Given the description of an element on the screen output the (x, y) to click on. 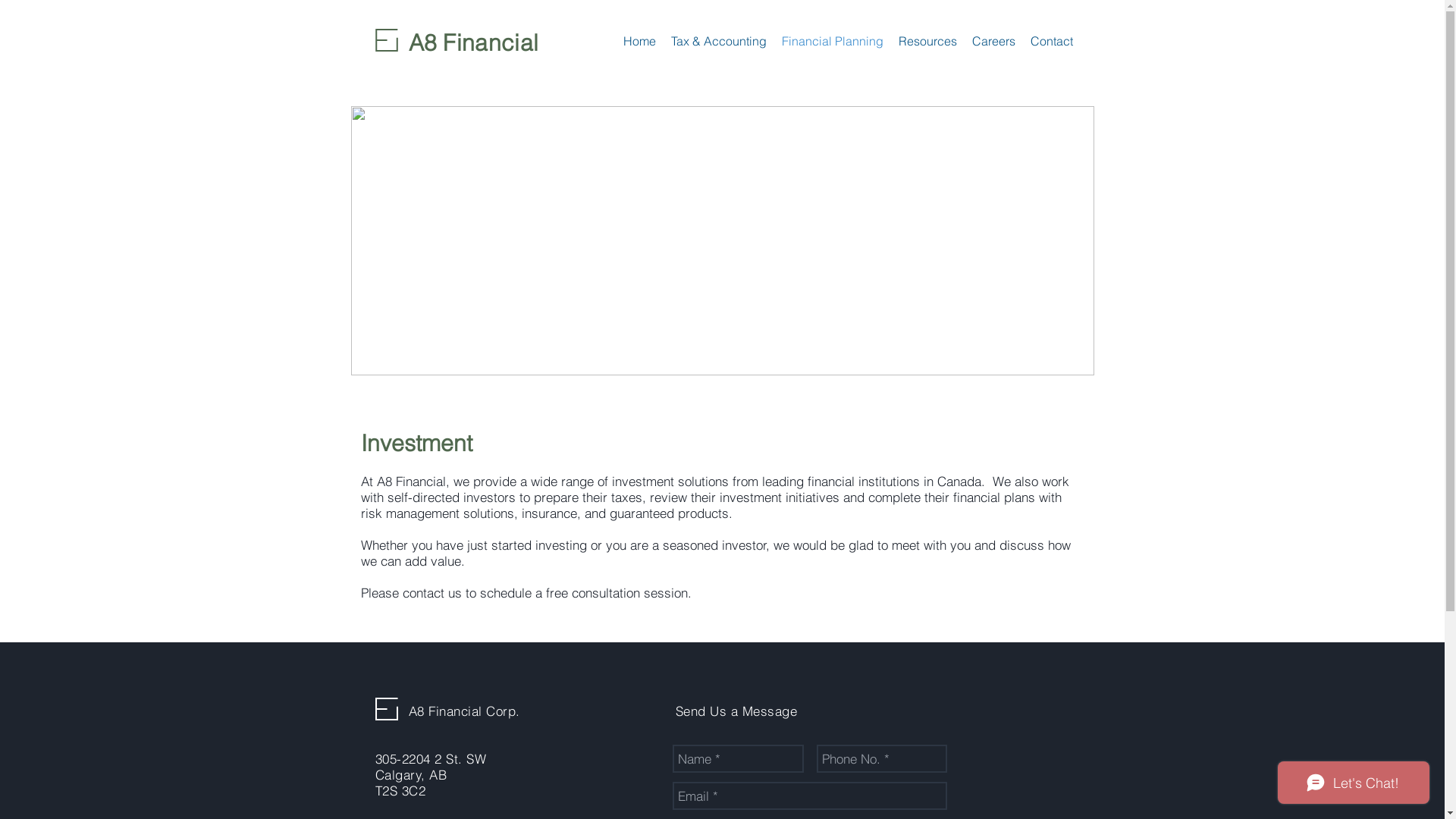
Contact Element type: text (1050, 40)
Tax & Accounting Element type: text (717, 40)
Financial Planning Element type: text (831, 40)
Home Element type: text (639, 40)
A8 Financial Element type: text (472, 42)
Careers Element type: text (993, 40)
Resources Element type: text (926, 40)
A8 Financial Corp. Element type: text (463, 710)
TWIPLA (Visitor Analytics) Element type: hover (1442, 4)
